Given the description of an element on the screen output the (x, y) to click on. 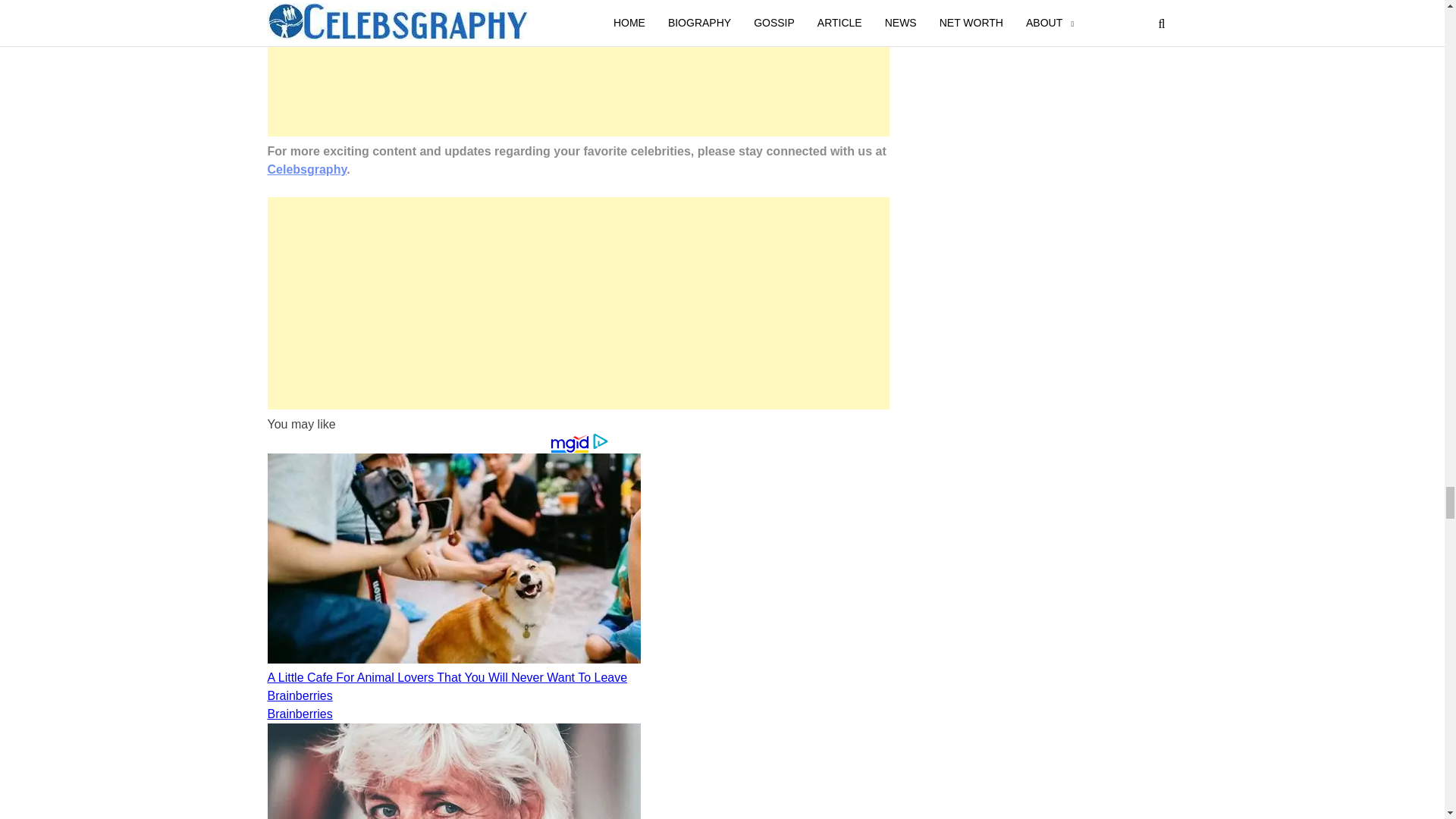
Celebsgraphy (306, 169)
